Given the description of an element on the screen output the (x, y) to click on. 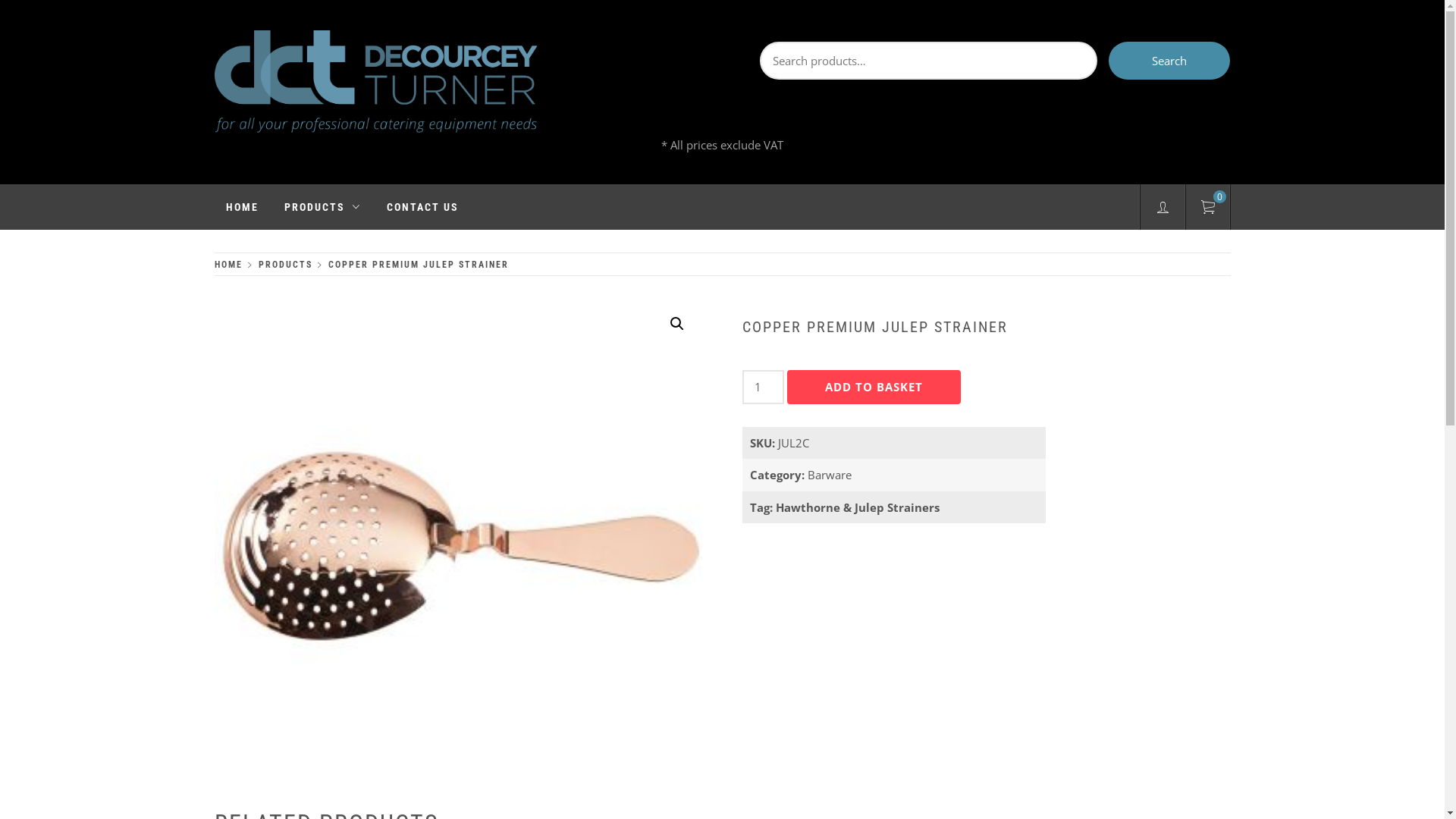
JUL2C.jpg Element type: hover (457, 542)
HOME Element type: text (230, 264)
Qty Element type: hover (762, 387)
HOME Element type: text (241, 206)
PRODUCTS Element type: text (281, 264)
PRODUCTS Element type: text (322, 206)
Skip to content Element type: text (0, 0)
Hawthorne & Julep Strainers Element type: text (857, 506)
Barware Element type: text (829, 474)
DECOURCEY TURNER Element type: text (312, 163)
ADD TO BASKET Element type: text (873, 387)
Search Element type: text (1169, 60)
CONTACT US Element type: text (421, 206)
0 Element type: text (1207, 208)
